Given the description of an element on the screen output the (x, y) to click on. 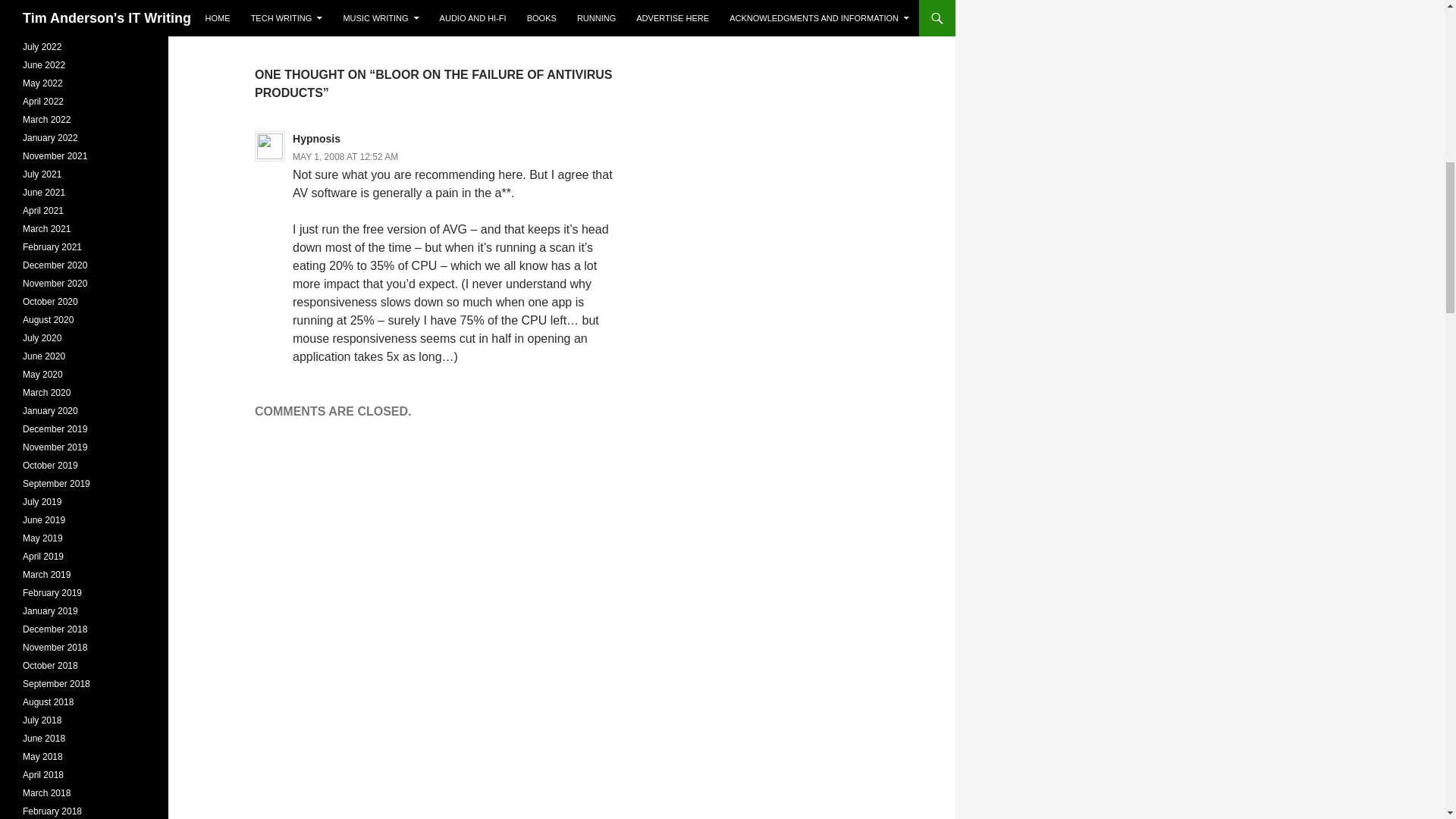
MAY 1, 2008 AT 12:52 AM (344, 156)
Hypnosis (434, 14)
